Given the description of an element on the screen output the (x, y) to click on. 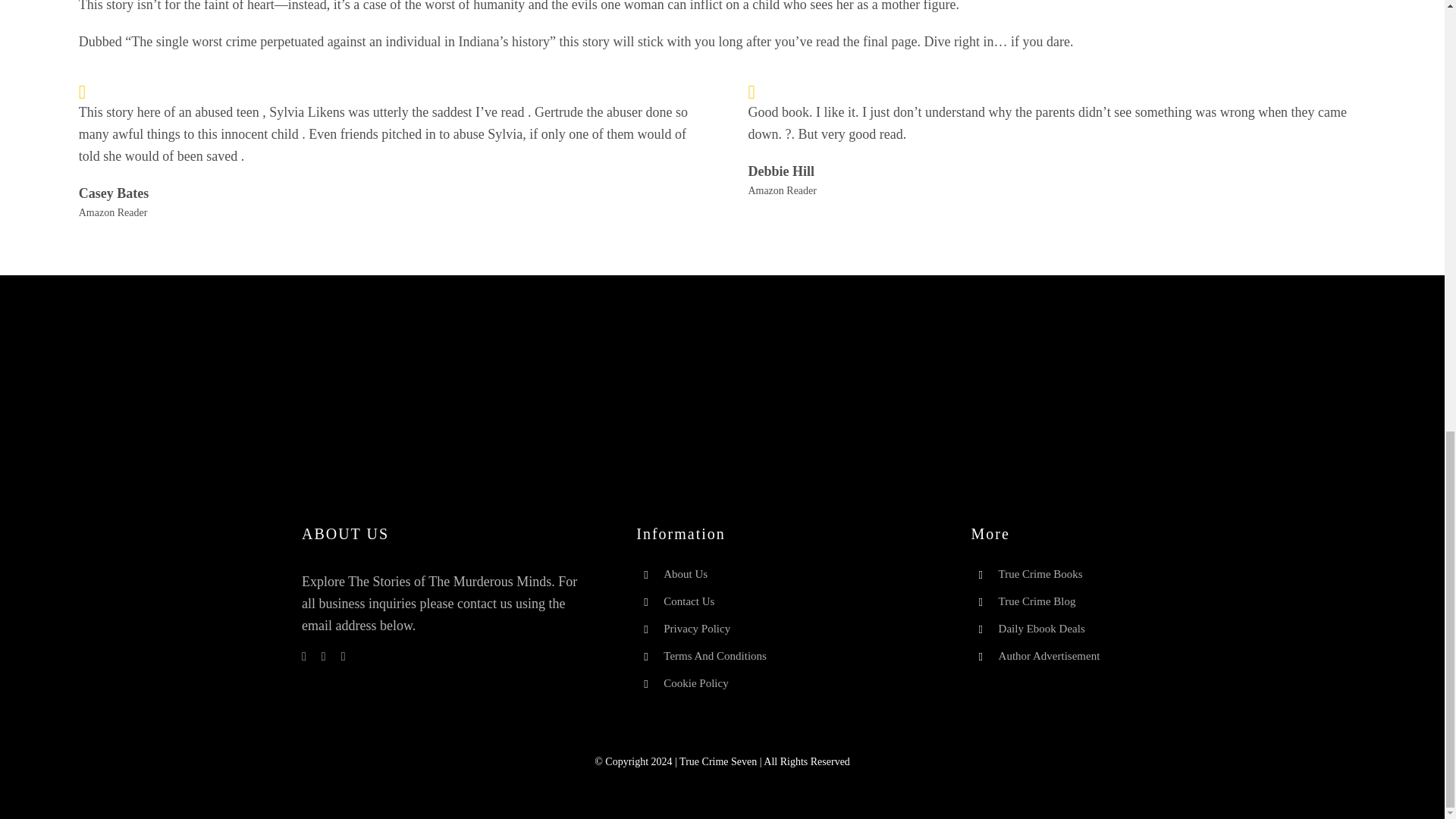
About Us (685, 573)
Terms And Conditions (715, 655)
Cookie Policy (695, 683)
Contact Us (688, 601)
Author Advertisement   (1051, 655)
Daily Ebook Deals (1041, 628)
True Crime Books (1040, 573)
True Crime Blog (1036, 601)
Privacy Policy  (698, 628)
